Given the description of an element on the screen output the (x, y) to click on. 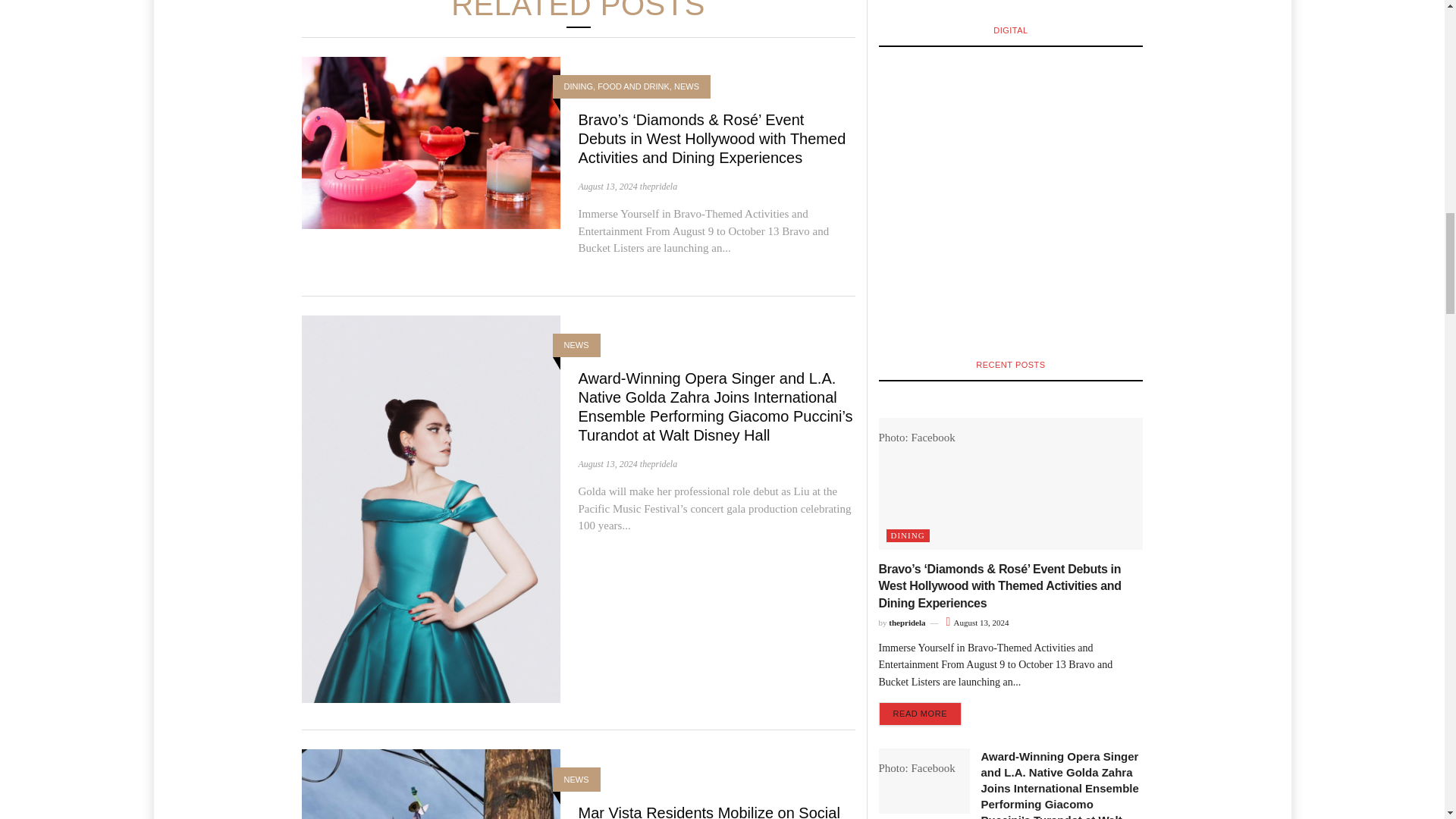
Posts by thepridela (658, 463)
Posts by thepridela (658, 185)
